Given the description of an element on the screen output the (x, y) to click on. 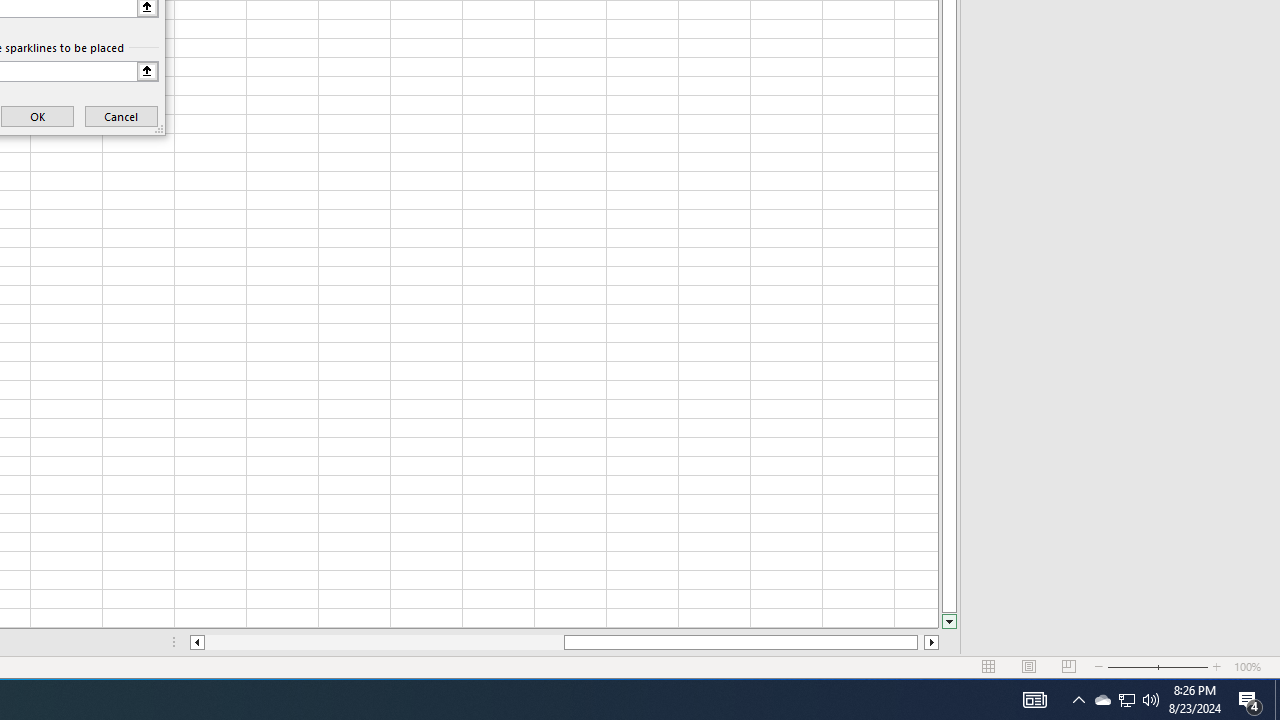
Page left (384, 642)
